Given the description of an element on the screen output the (x, y) to click on. 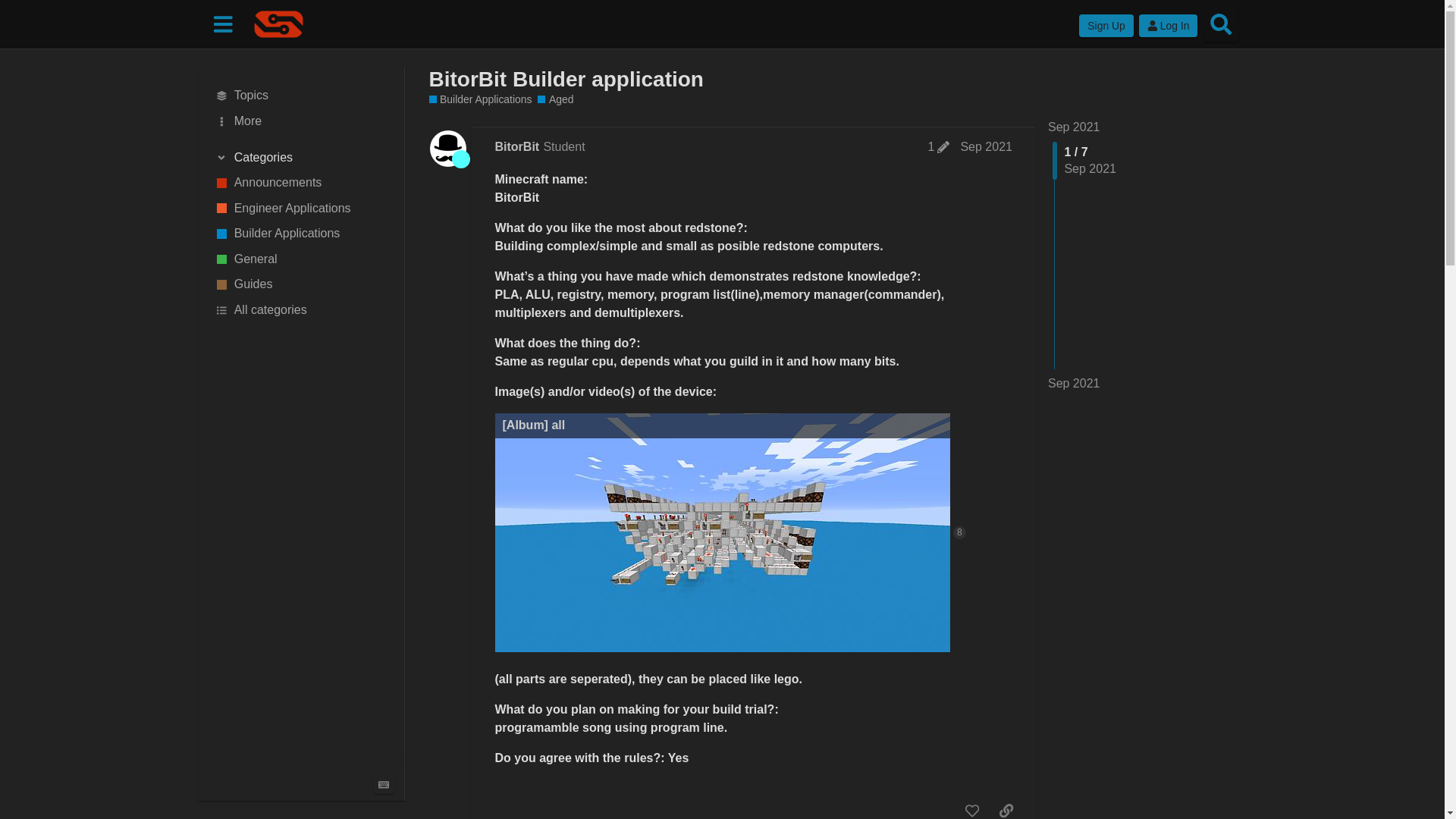
Categories (301, 157)
Announcements (301, 182)
Want to write a guide? Do so here! (301, 284)
post last edited on Sep 7, 2021 3:05 am (939, 146)
Jump to the last post (1074, 382)
Sidebar (222, 23)
All general ORE-Related discussion should go here. (301, 258)
More (301, 121)
Student (460, 158)
Sep 2021 (985, 146)
Builder Applications (301, 234)
Guides (301, 284)
Aged (555, 99)
